Given the description of an element on the screen output the (x, y) to click on. 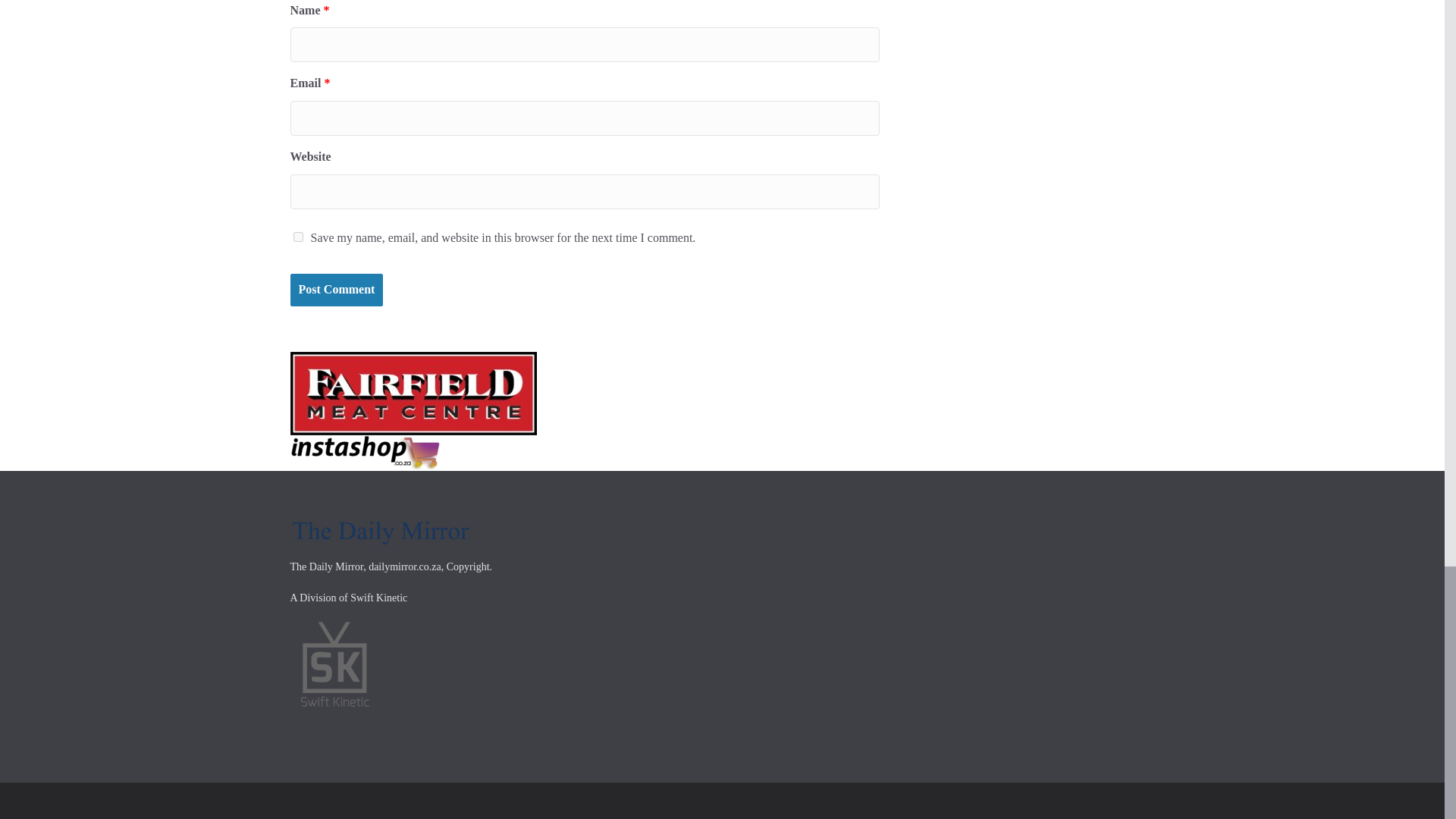
Post Comment (335, 289)
Post Comment (335, 289)
yes (297, 236)
